Given the description of an element on the screen output the (x, y) to click on. 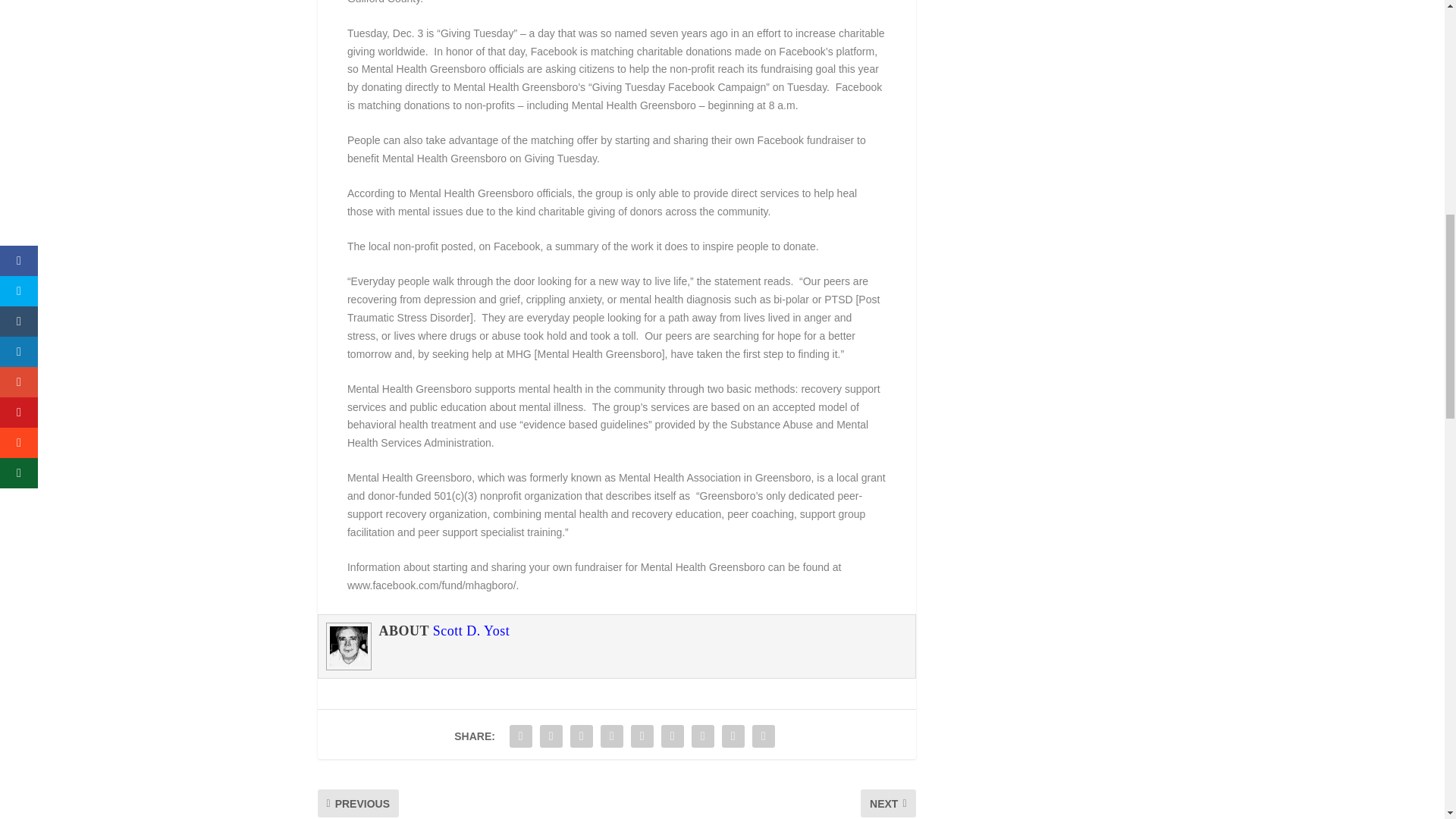
Scott D. Yost (471, 630)
